Given the description of an element on the screen output the (x, y) to click on. 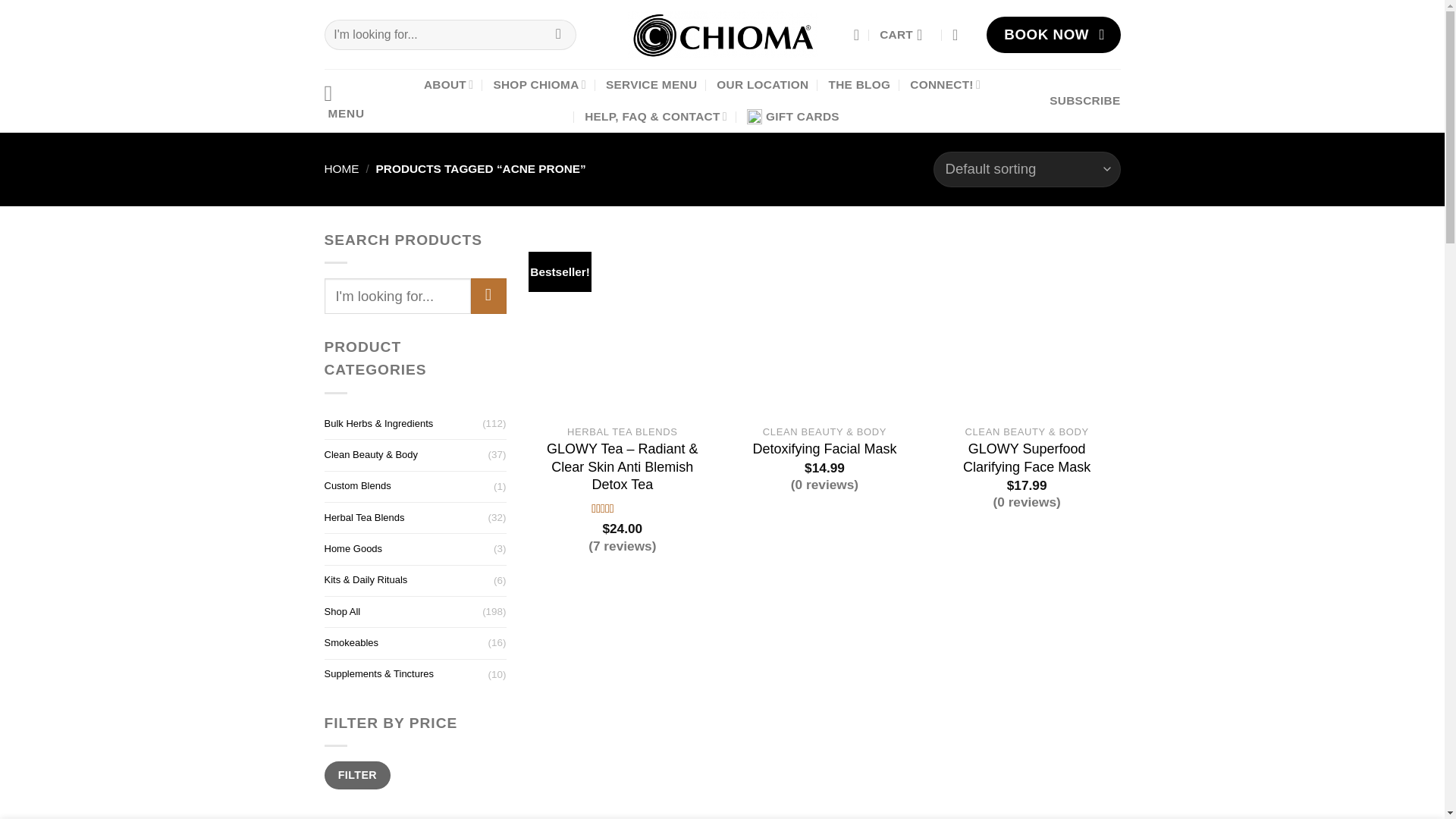
SHOP CHIOMA (539, 84)
CART (905, 34)
ABOUT (448, 84)
Cart (905, 34)
BOOK NOW (1054, 34)
Reward Points (1084, 101)
Search (558, 34)
